Given the description of an element on the screen output the (x, y) to click on. 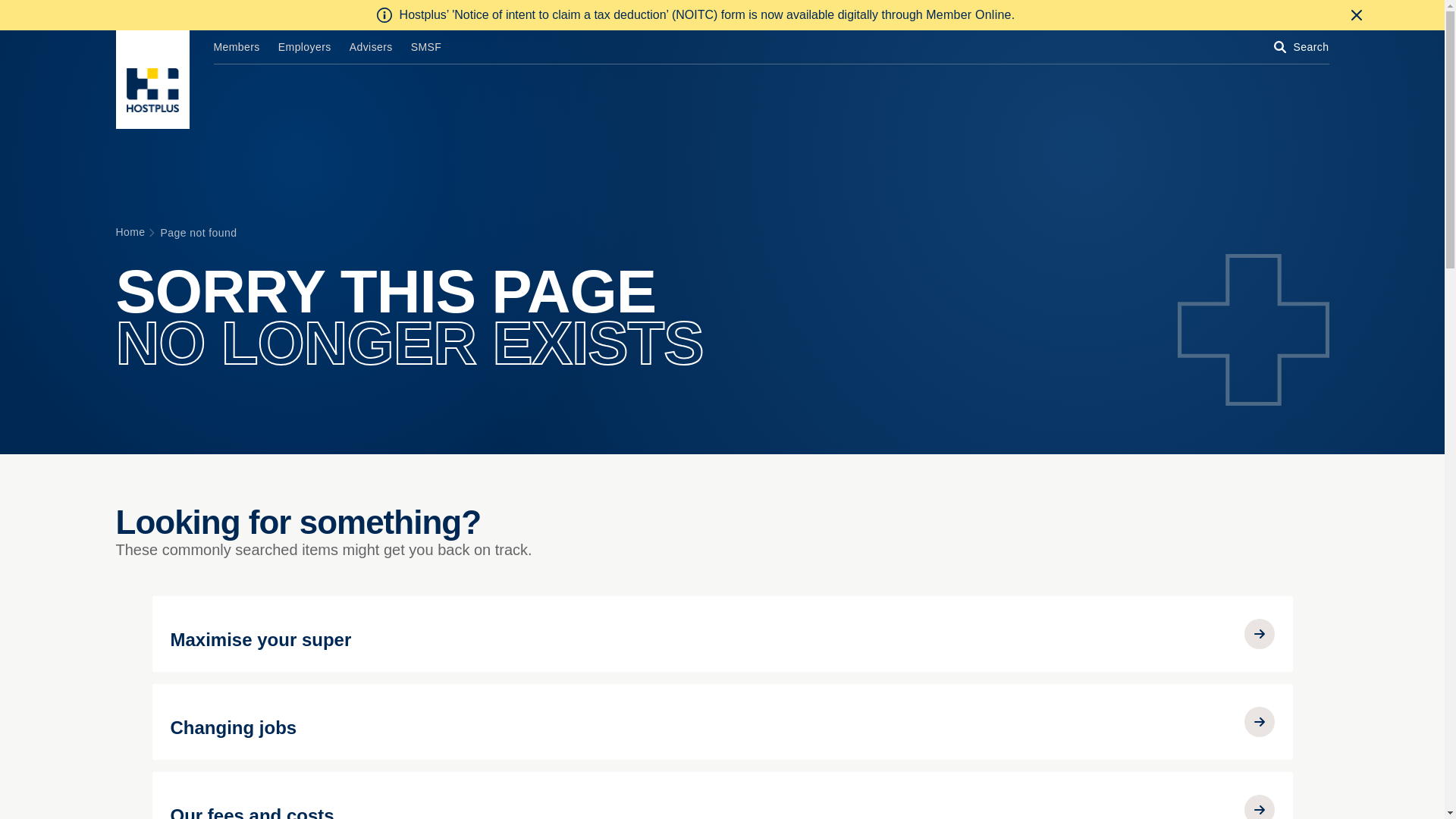
Advisers (371, 47)
Member Online. (970, 15)
Members (237, 47)
SMSF (426, 47)
Employers (304, 47)
